Given the description of an element on the screen output the (x, y) to click on. 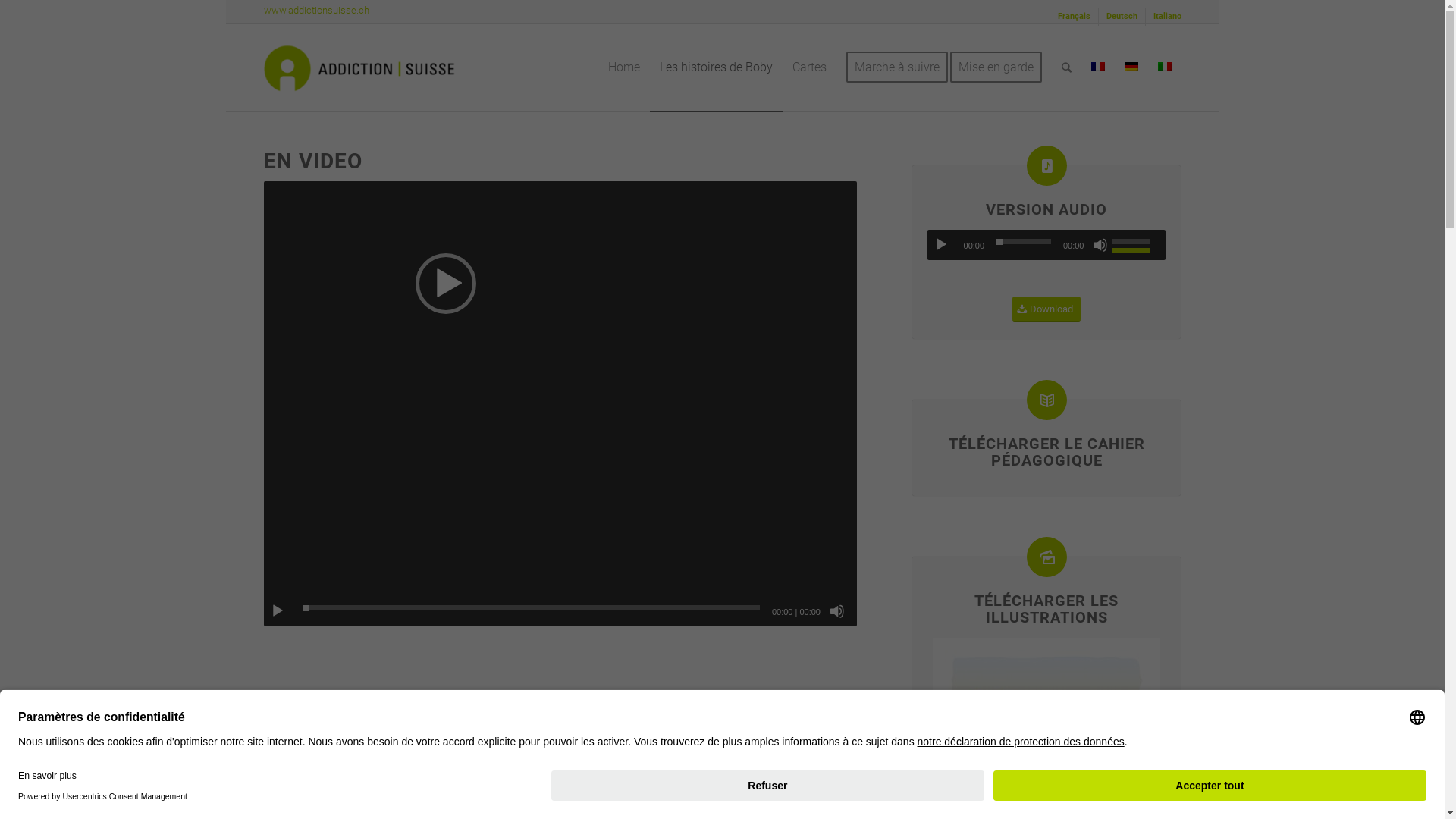
Italiano Element type: text (1166, 16)
Muet Element type: hover (836, 610)
Lecture Element type: hover (277, 610)
Deutsch Element type: hover (1130, 66)
Cartes Element type: text (809, 67)
Mise en garde Element type: text (1000, 67)
Italiano Element type: hover (1163, 66)
Les histoires de Boby Element type: text (715, 67)
Lecture Element type: hover (940, 244)
Home Element type: text (623, 67)
Download Element type: text (1046, 308)
Deutsch Element type: text (1120, 16)
www.addictionsuisse.ch Element type: text (316, 9)
Muet Element type: hover (1099, 244)
